Given the description of an element on the screen output the (x, y) to click on. 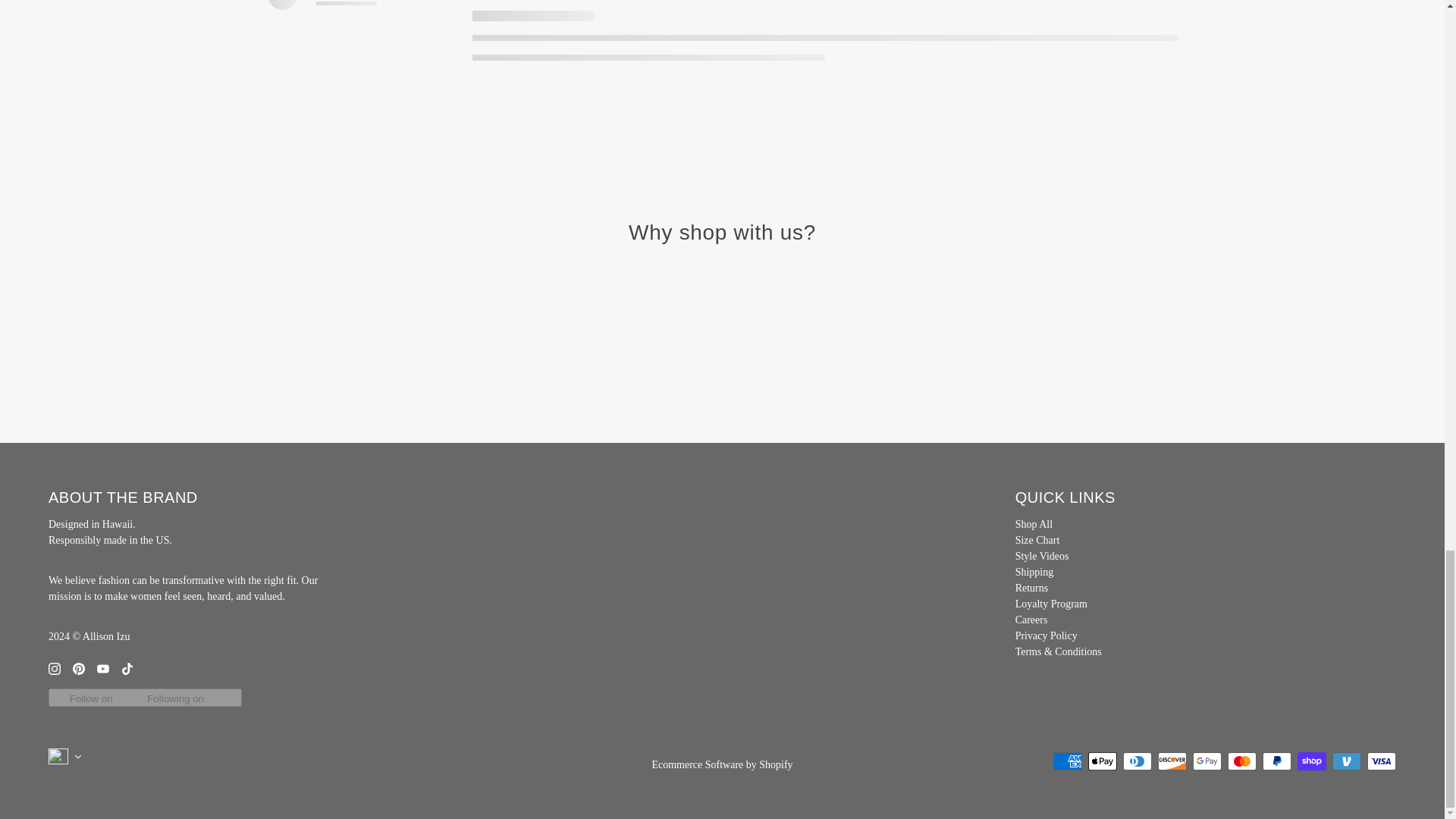
Shop All (1033, 523)
Loyalty Program (1050, 603)
Careers (1031, 619)
Returns (1031, 587)
Privacy Policy (1045, 635)
Style Videos (1041, 555)
Shipping (1034, 572)
Size Chart (1036, 540)
